Given the description of an element on the screen output the (x, y) to click on. 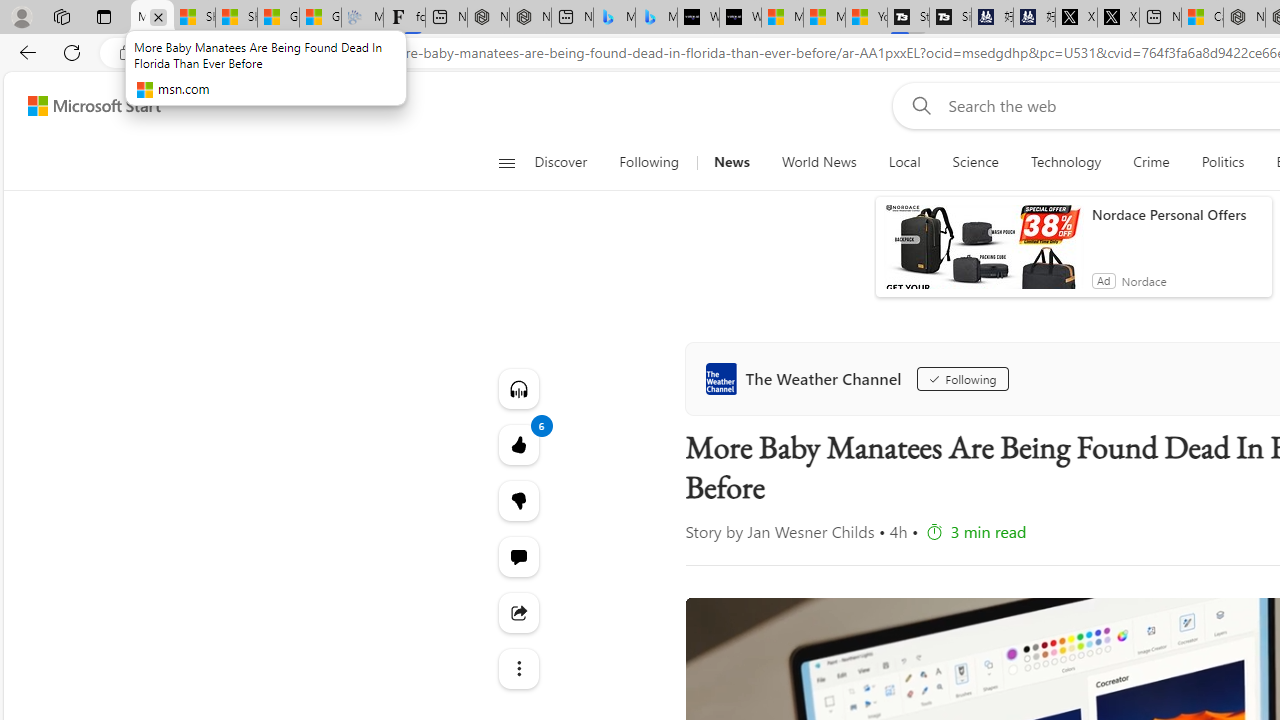
View site information (125, 53)
News (731, 162)
Share this story (517, 612)
Following (649, 162)
Discover (568, 162)
News (731, 162)
Science (975, 162)
Microsoft Start (823, 17)
Discover (560, 162)
Technology (1066, 162)
Local (903, 162)
anim-content (983, 255)
Nordace - Summer Adventures 2024 (1243, 17)
